Given the description of an element on the screen output the (x, y) to click on. 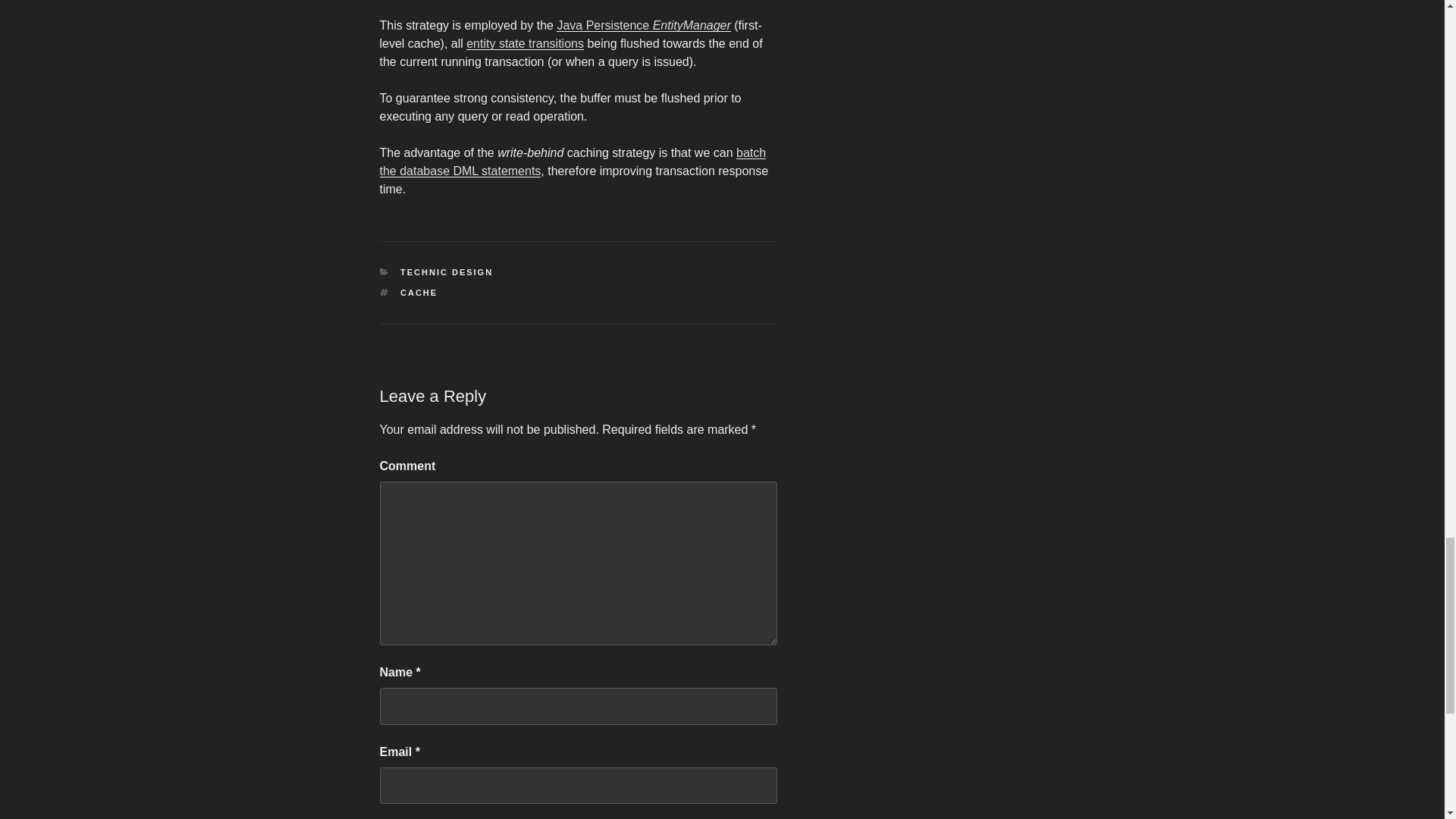
CACHE (419, 292)
batch the database DML statements (571, 161)
TECHNIC DESIGN (446, 271)
Java Persistence (604, 24)
entity state transitions (524, 42)
EntityManager (691, 24)
